Given the description of an element on the screen output the (x, y) to click on. 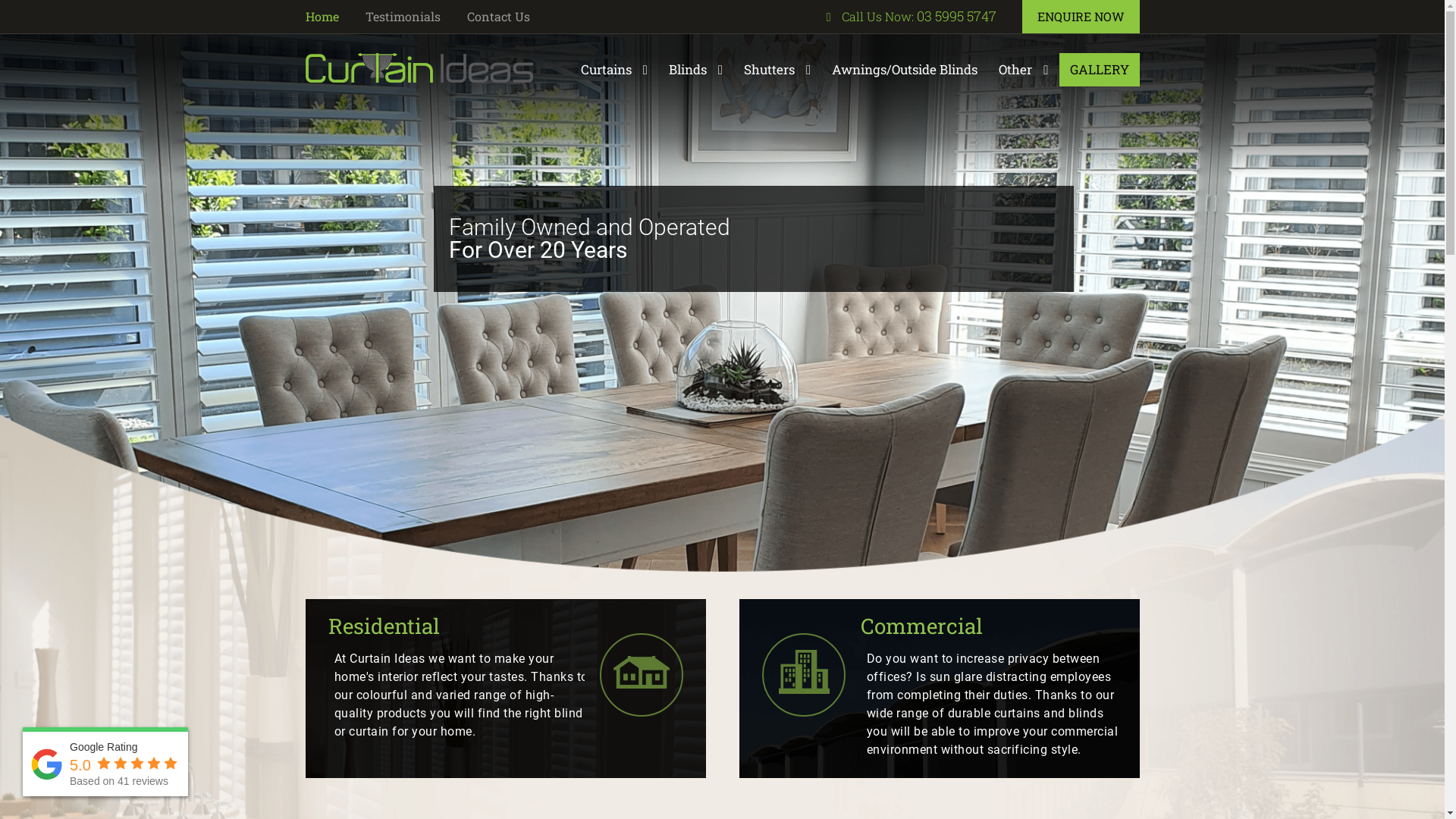
Awnings/Outside Blinds Element type: text (904, 69)
Testimonials Element type: text (402, 16)
03 5995 5747 Element type: text (955, 15)
Other Element type: text (1023, 69)
Home Element type: text (321, 16)
Blinds Element type: text (695, 69)
GALLERY Element type: text (1098, 69)
Curtains Element type: text (614, 69)
Shutters Element type: text (777, 69)
Contact Us Element type: text (498, 16)
ENQUIRE NOW Element type: text (1080, 16)
